Given the description of an element on the screen output the (x, y) to click on. 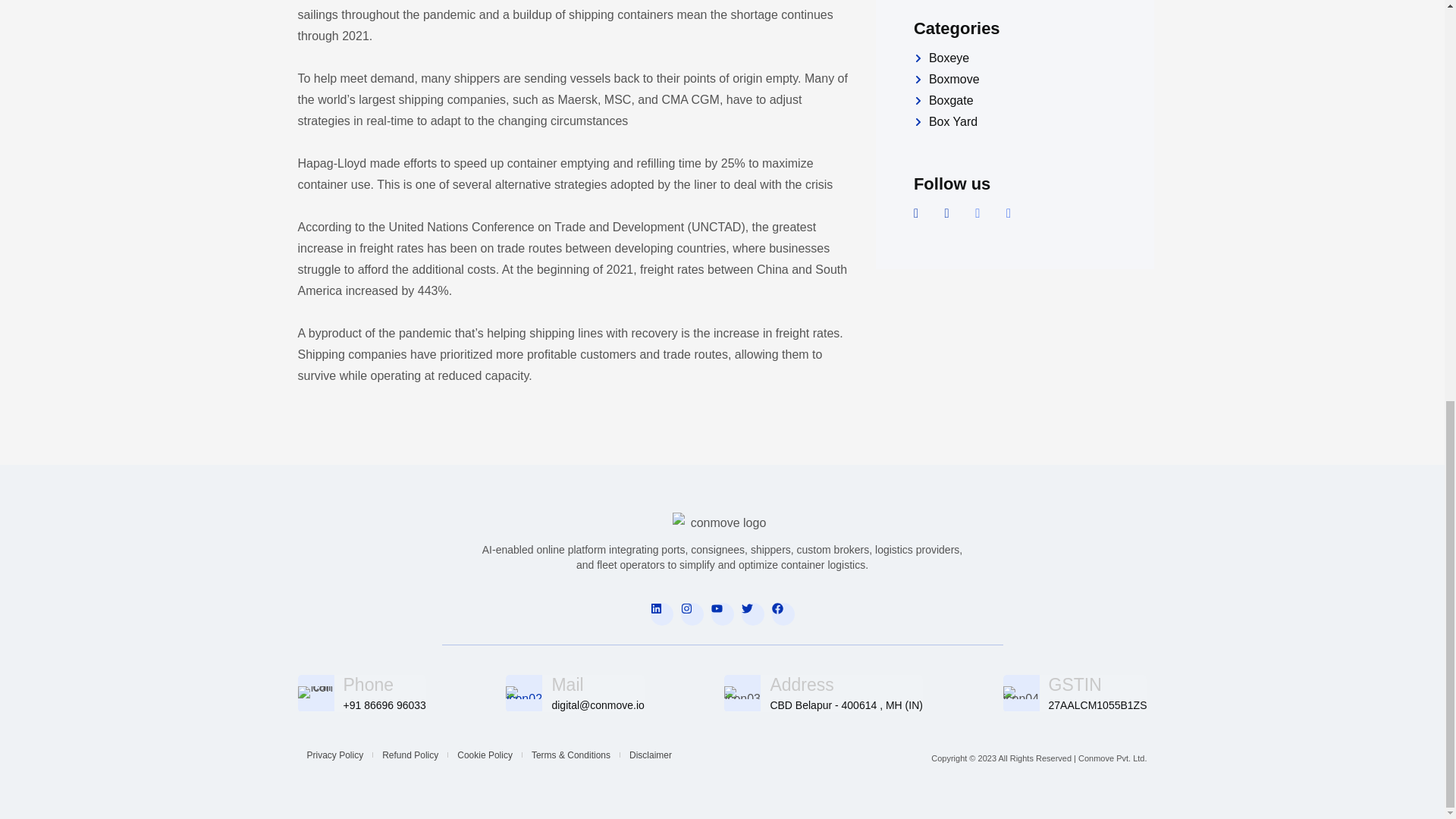
Privacy Policy (334, 754)
Facebook (782, 613)
Cookie Policy (484, 754)
Box Yard (1017, 121)
Youtube (722, 613)
Twitter (752, 613)
Linkedin (661, 613)
Boxmove (1017, 79)
Instagram (692, 613)
Boxgate (1017, 100)
Refund Policy (409, 754)
Disclaimer (650, 754)
Boxeye (1017, 57)
